Given the description of an element on the screen output the (x, y) to click on. 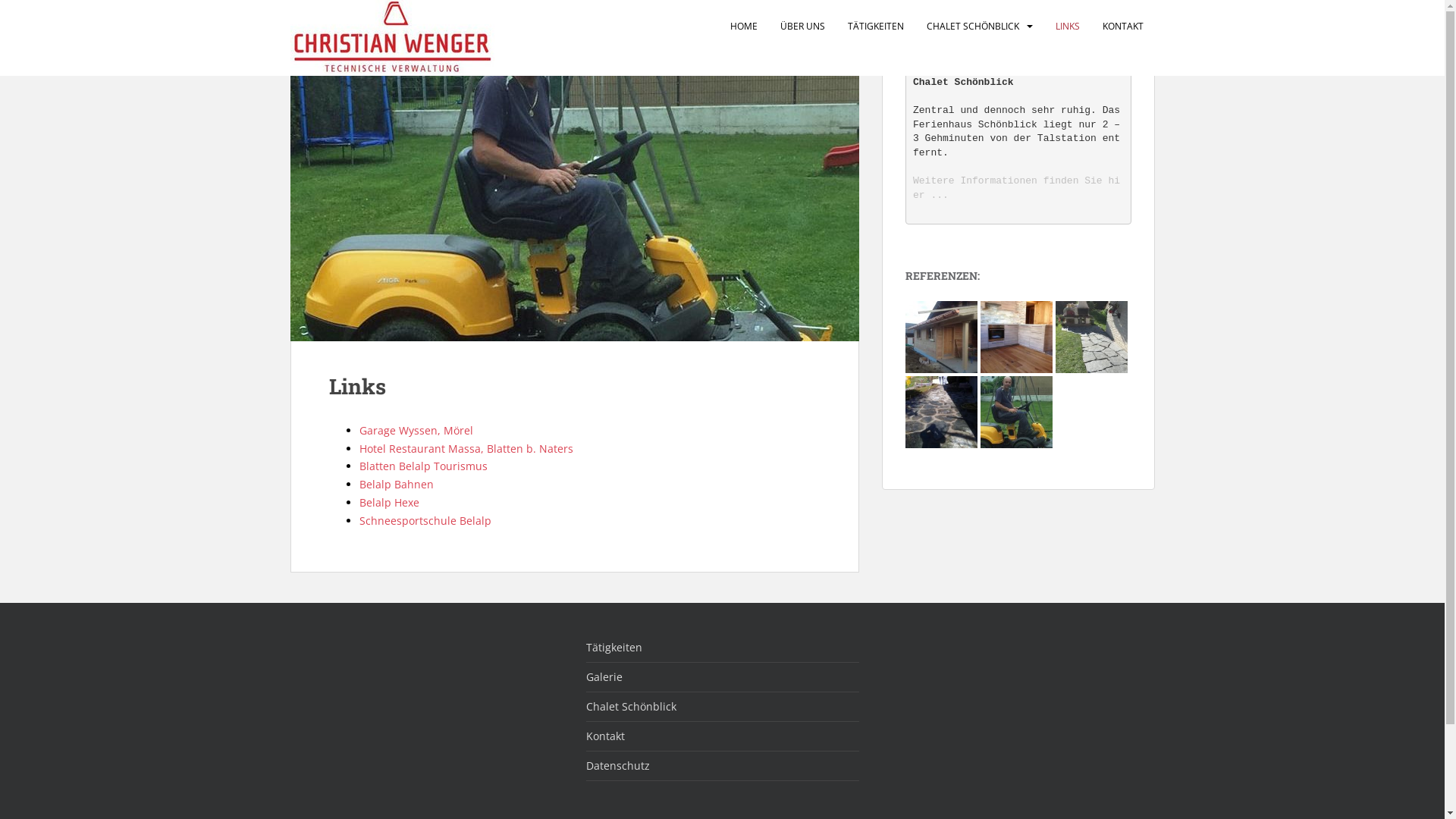
Belalp Bahnen Element type: text (396, 483)
Hotel Restaurant Massa, Blatten b. Naters Element type: text (466, 448)
Belalp Hexe Element type: text (389, 502)
Weitere Informationen finden Sie hier ... Element type: text (1016, 194)
Blatten Belalp Tourismus Element type: text (423, 465)
Kontakt Element type: text (721, 736)
HOME Element type: text (742, 26)
Galerie Element type: text (721, 677)
Datenschutz Element type: text (721, 766)
KONTAKT Element type: text (1122, 26)
LINKS Element type: text (1067, 26)
Schneesportschule Belalp Element type: text (425, 520)
